Given the description of an element on the screen output the (x, y) to click on. 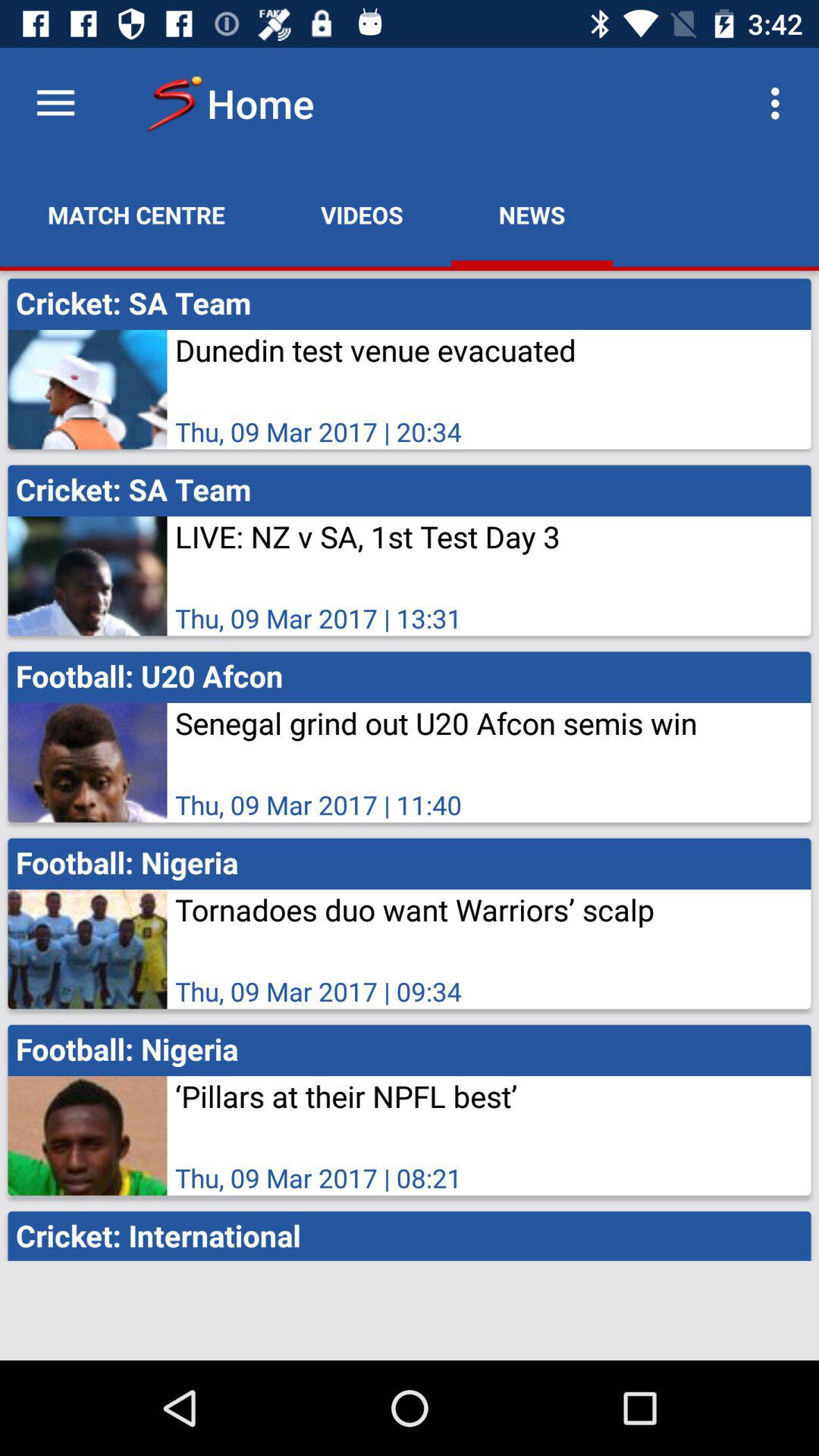
select item next to news item (779, 103)
